Given the description of an element on the screen output the (x, y) to click on. 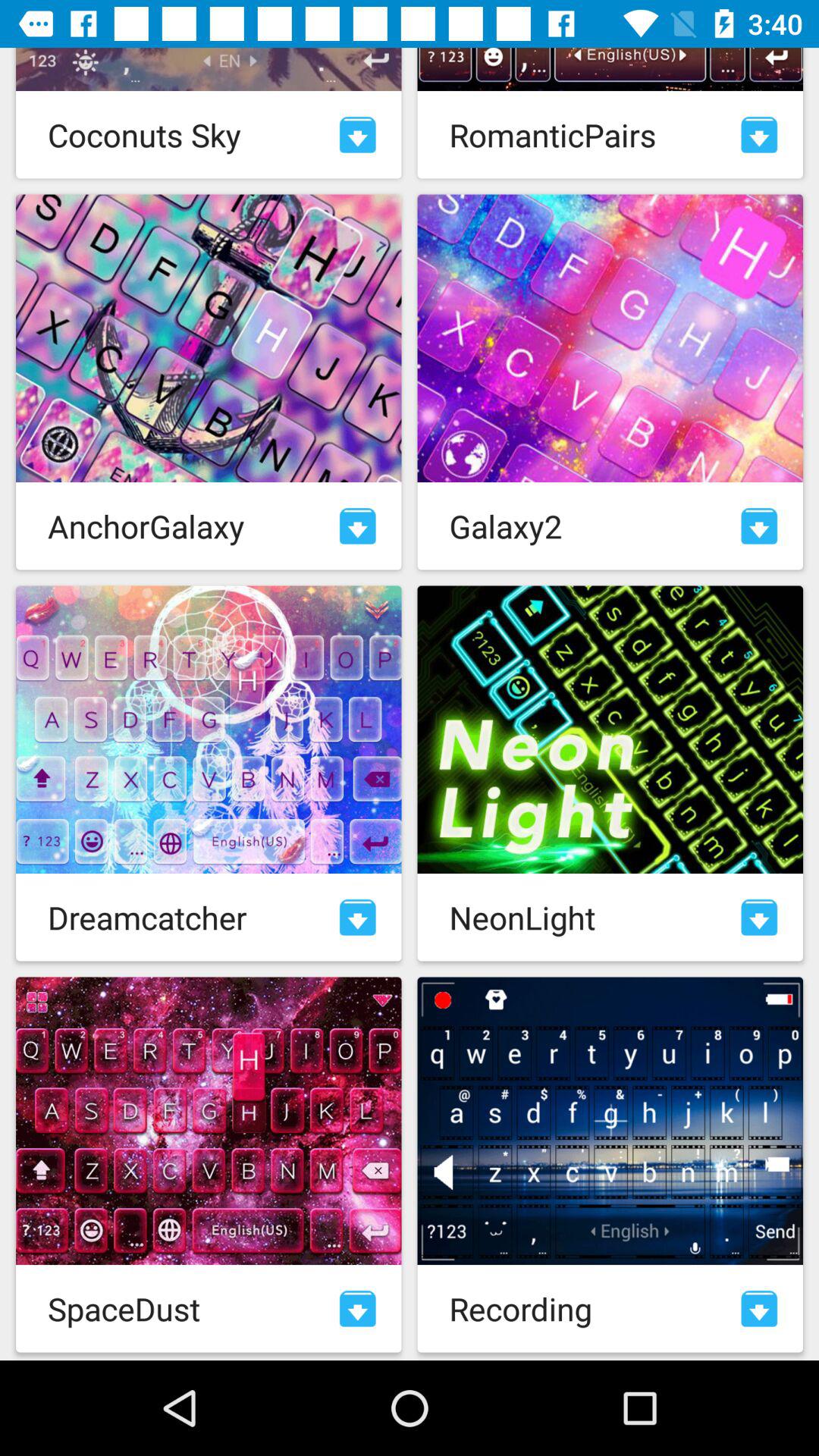
download (357, 917)
